Given the description of an element on the screen output the (x, y) to click on. 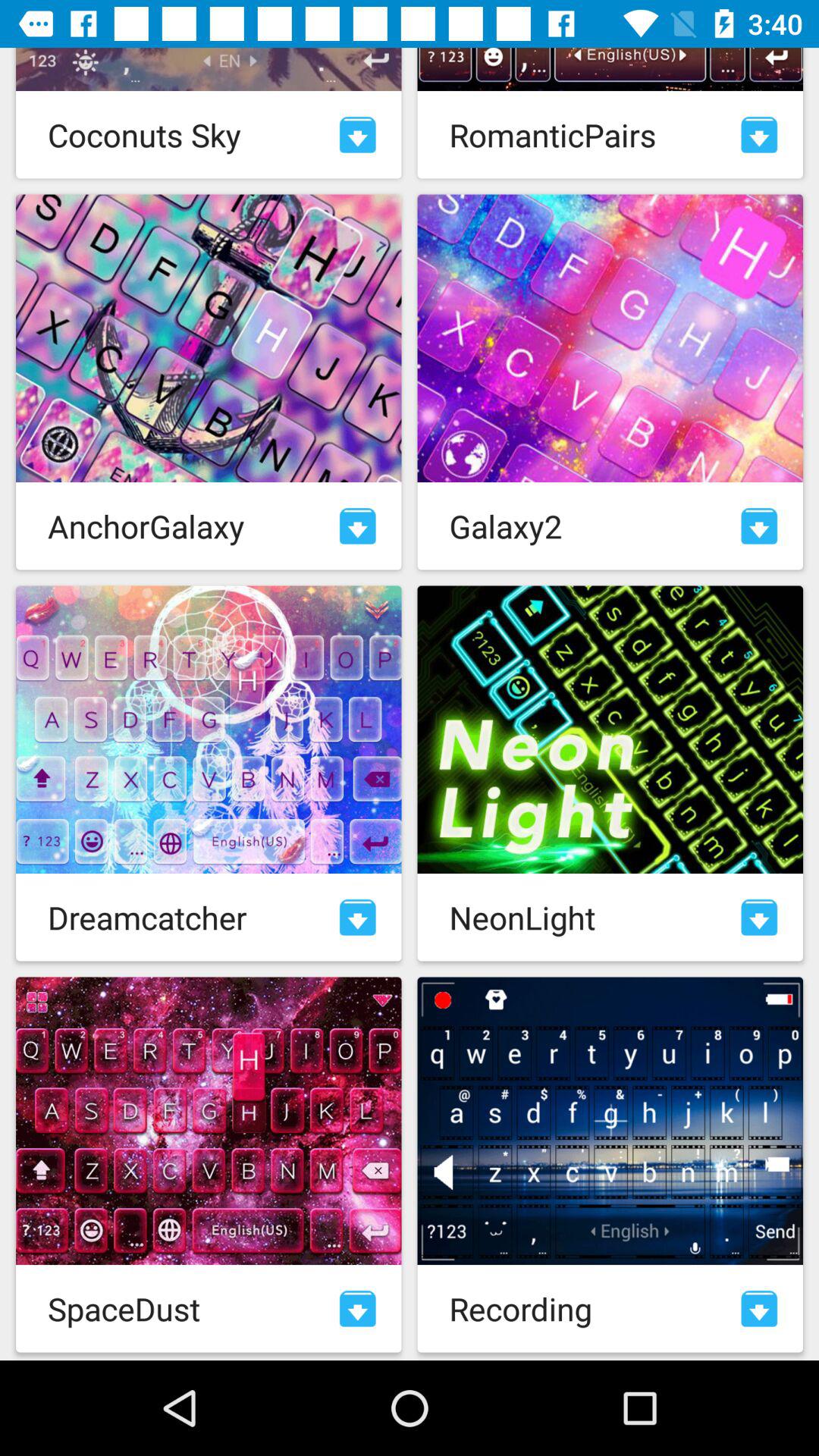
download (357, 917)
